Given the description of an element on the screen output the (x, y) to click on. 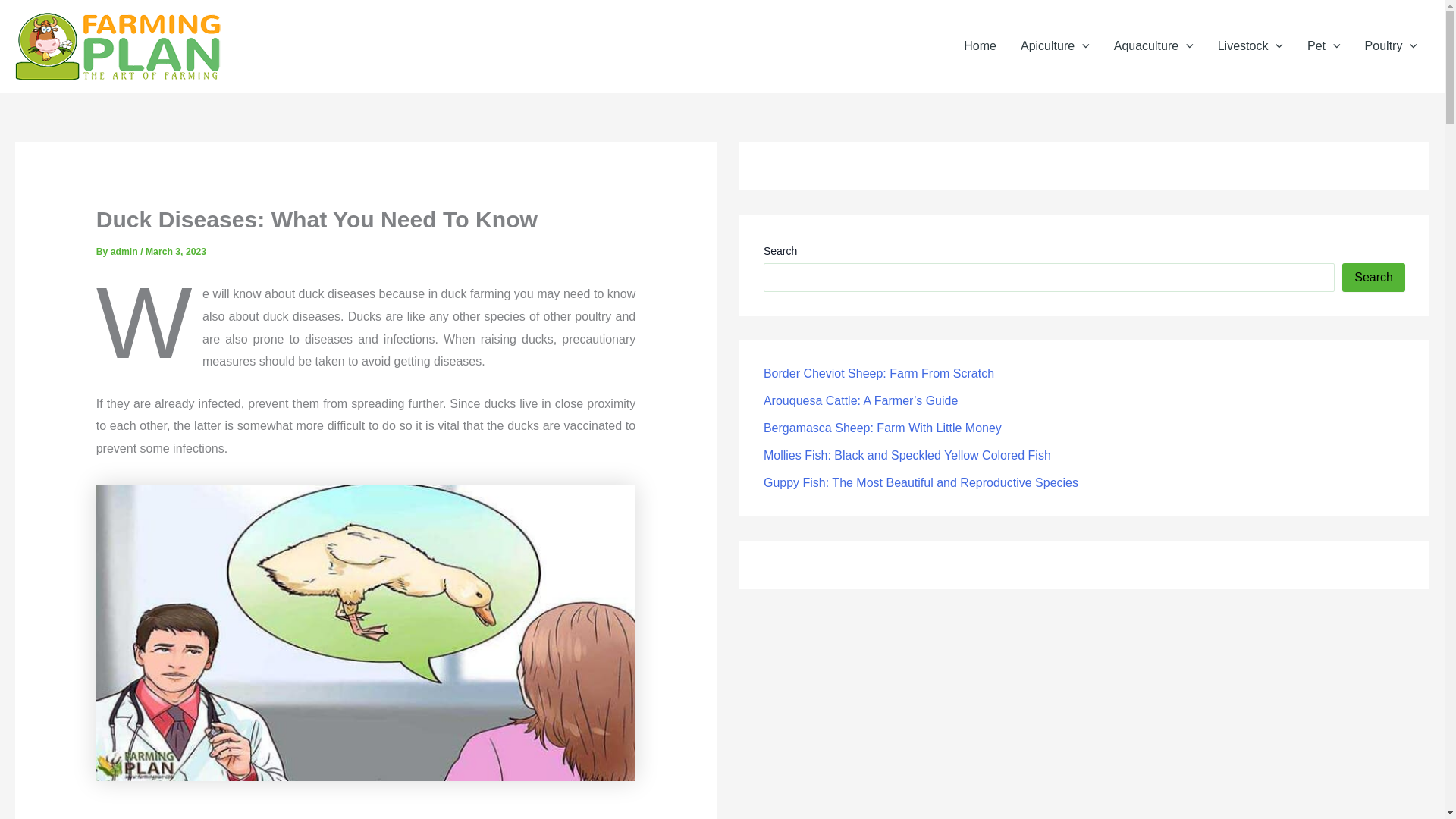
Pet (1323, 45)
Home (980, 45)
Poultry (1390, 45)
Livestock (1250, 45)
admin (124, 251)
Apiculture (1055, 45)
Aquaculture (1153, 45)
View all posts by admin (124, 251)
